Given the description of an element on the screen output the (x, y) to click on. 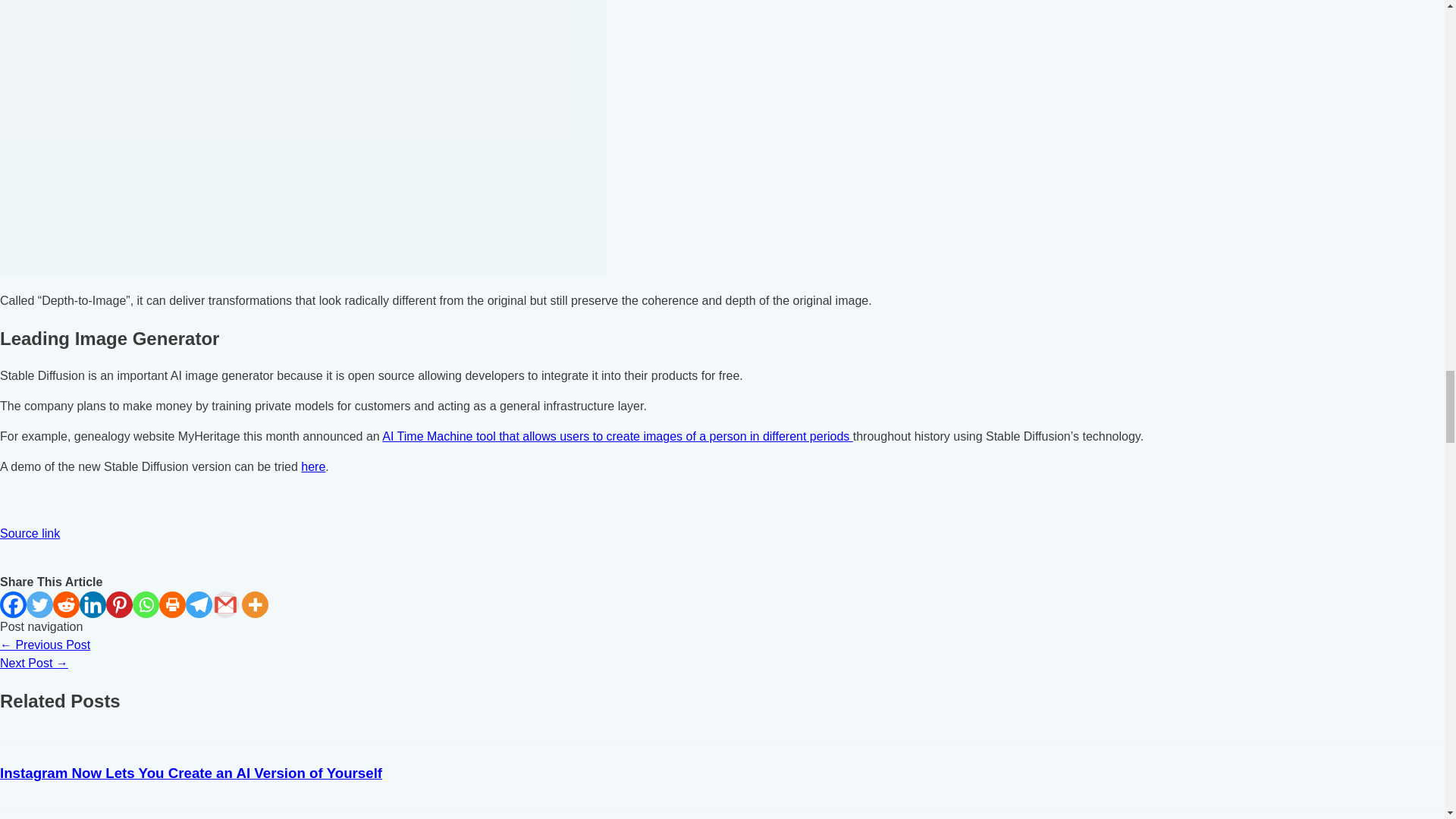
here (312, 466)
Source link (29, 533)
